Given the description of an element on the screen output the (x, y) to click on. 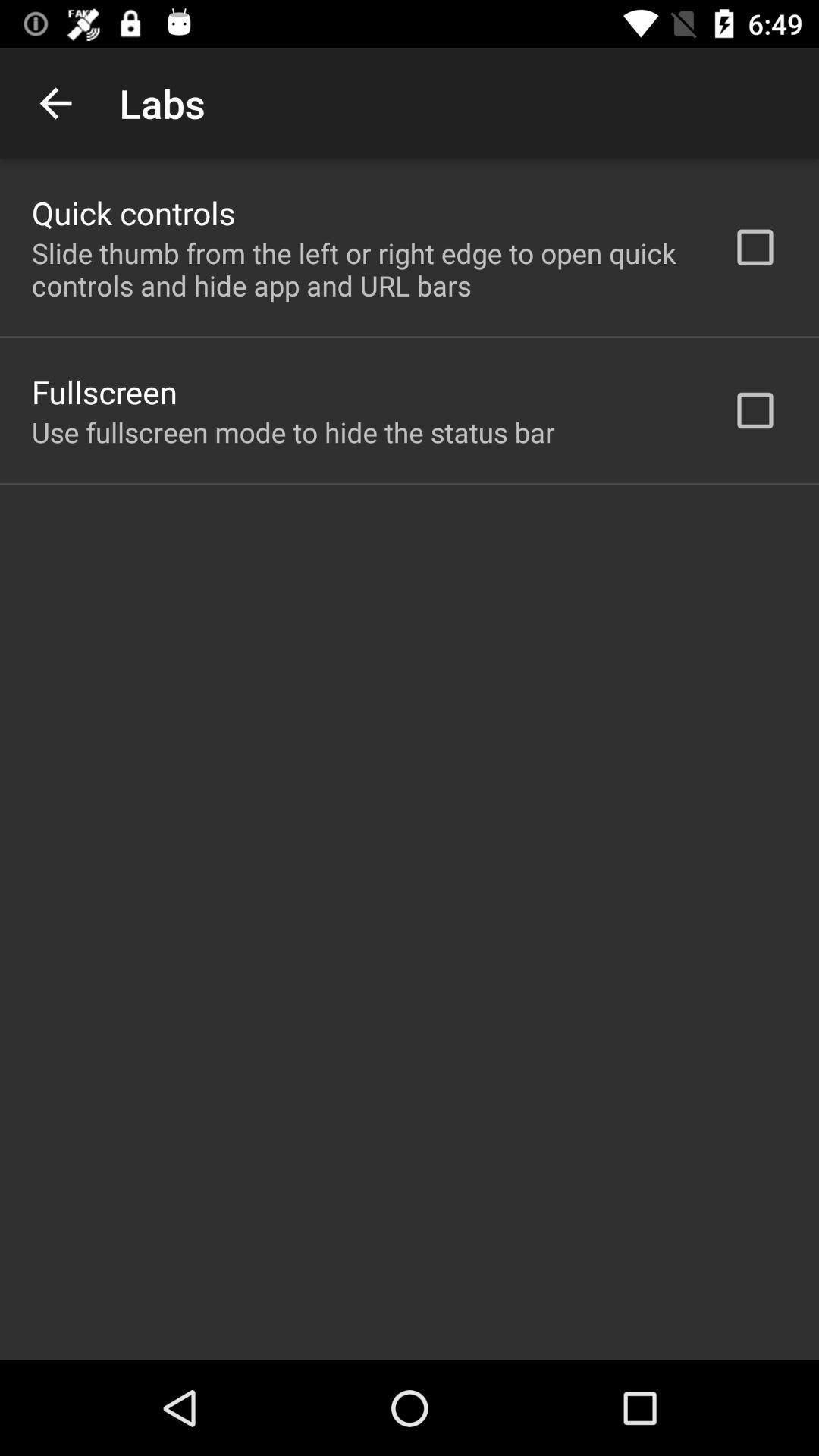
jump until use fullscreen mode (293, 432)
